Given the description of an element on the screen output the (x, y) to click on. 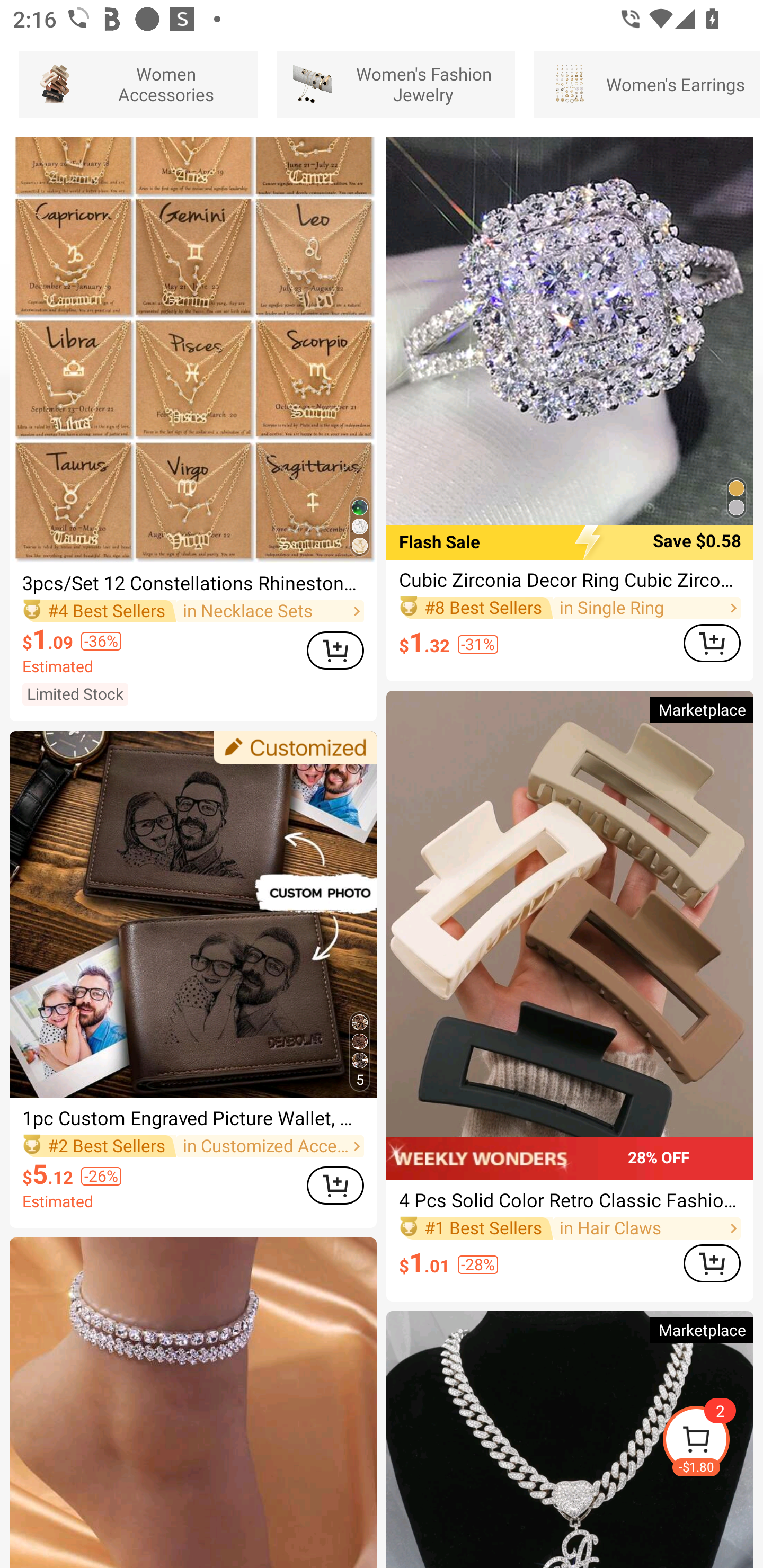
Women Accessories (138, 83)
Women's Fashion Jewelry (395, 83)
Women's Earrings (647, 83)
#8 Best Sellers in Single Ring (569, 607)
#4 Best Sellers in Necklace Sets (192, 611)
ADD TO CART (711, 642)
ADD TO CART (334, 650)
#2 Best Sellers in Customized Accessories (192, 1145)
ADD TO CART (334, 1185)
#1 Best Sellers in Hair Claws (569, 1228)
SHEIN SXY 2pcs Rhinestone Decor Anklet (192, 1402)
ADD TO CART (711, 1263)
-$1.80 (712, 1441)
